Given the description of an element on the screen output the (x, y) to click on. 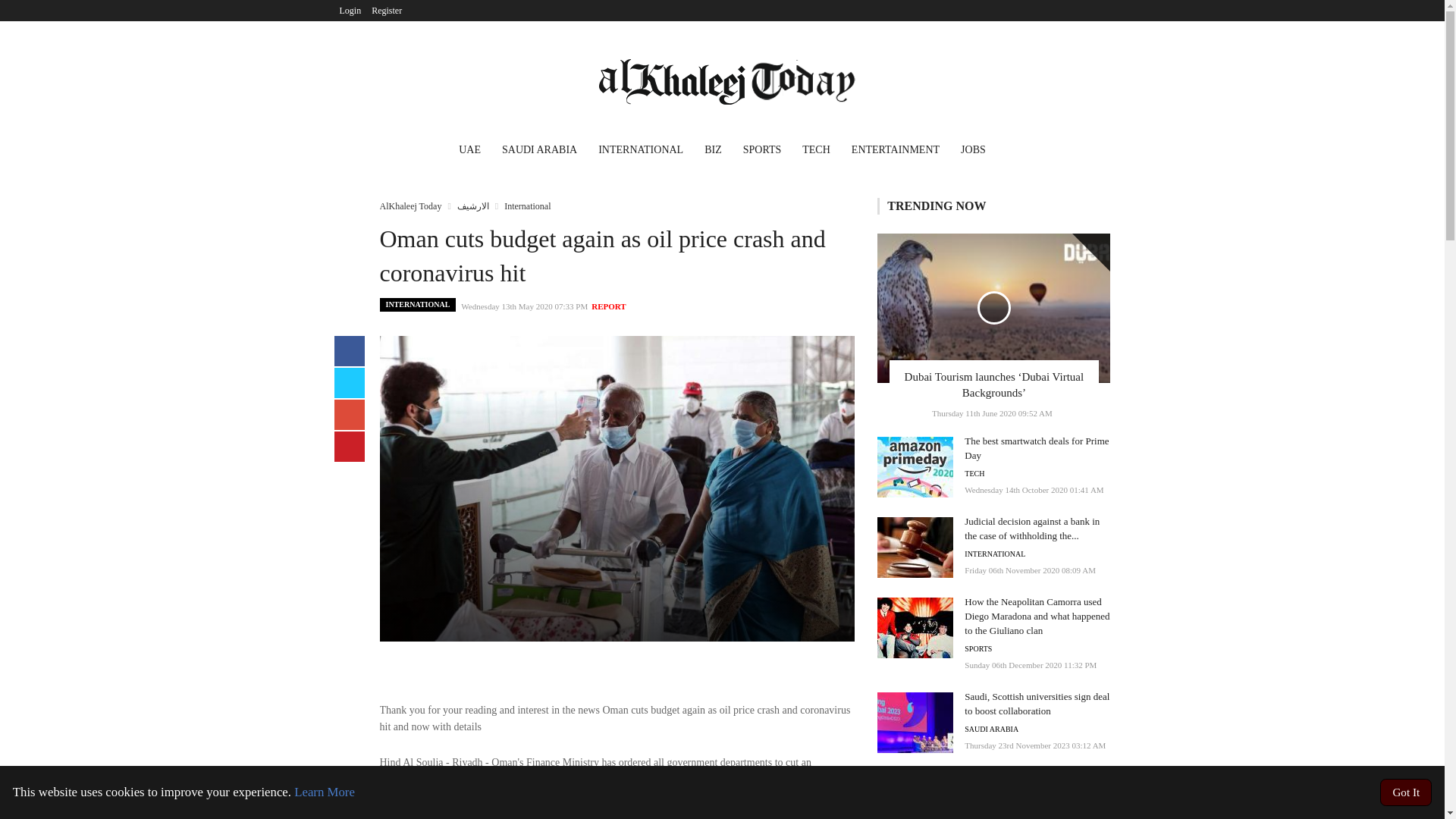
Register (386, 10)
INTERNATIONAL (641, 151)
INTERNATIONAL (416, 305)
TECH (816, 151)
SAUDI ARABIA (540, 151)
REPORT (608, 306)
BIZ (713, 151)
TECH (973, 473)
JOBS (972, 151)
